Given the description of an element on the screen output the (x, y) to click on. 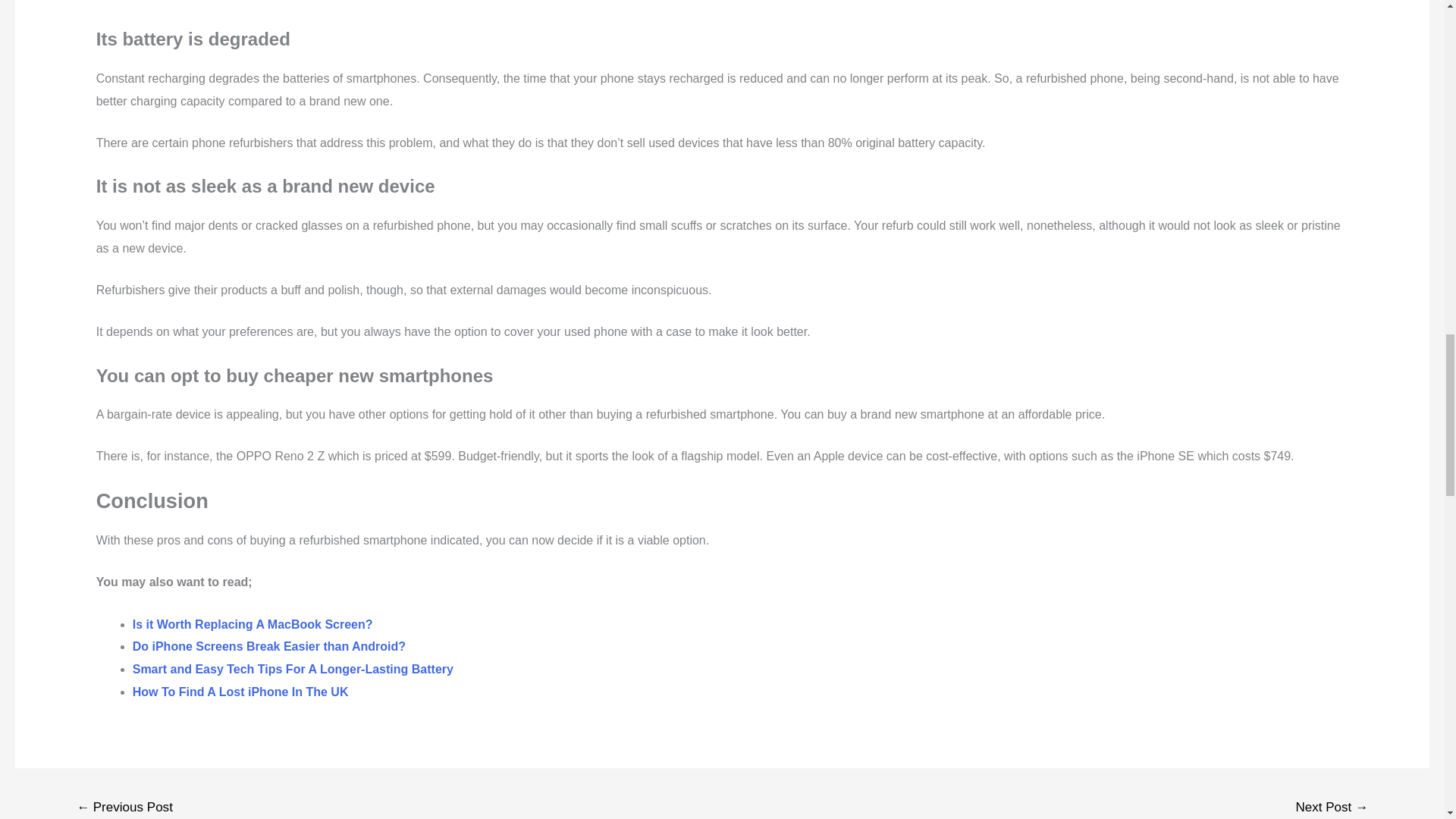
How To Find A Lost iPhone In The UK (240, 691)
Is it Worth Replacing A MacBook Screen? (252, 624)
Smart and Easy Tech Tips For A Longer-Lasting Battery (292, 668)
Do iPhone Screens Break Easier than Android? (269, 645)
